Given the description of an element on the screen output the (x, y) to click on. 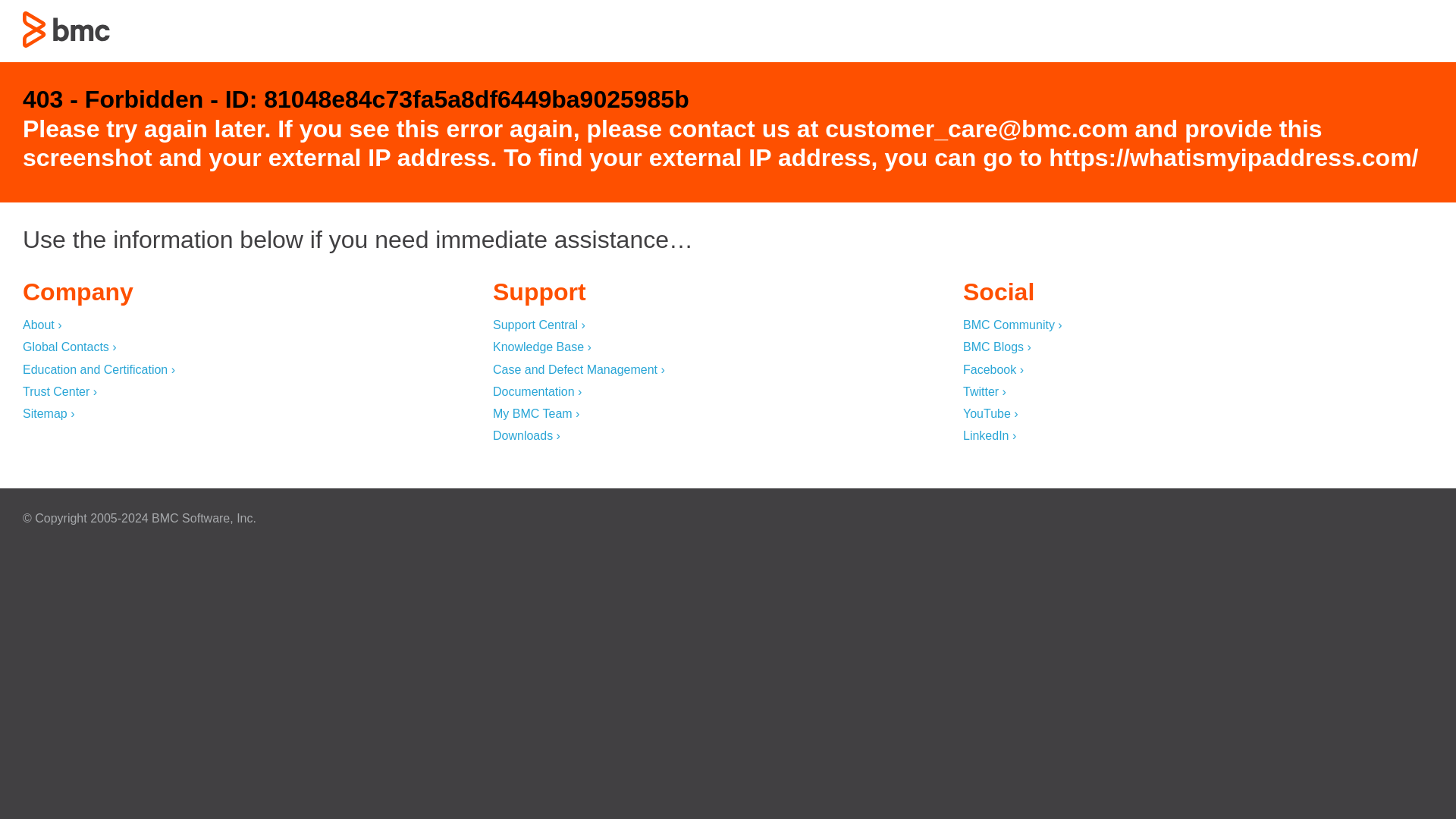
403 - Forbidden (66, 29)
